Given the description of an element on the screen output the (x, y) to click on. 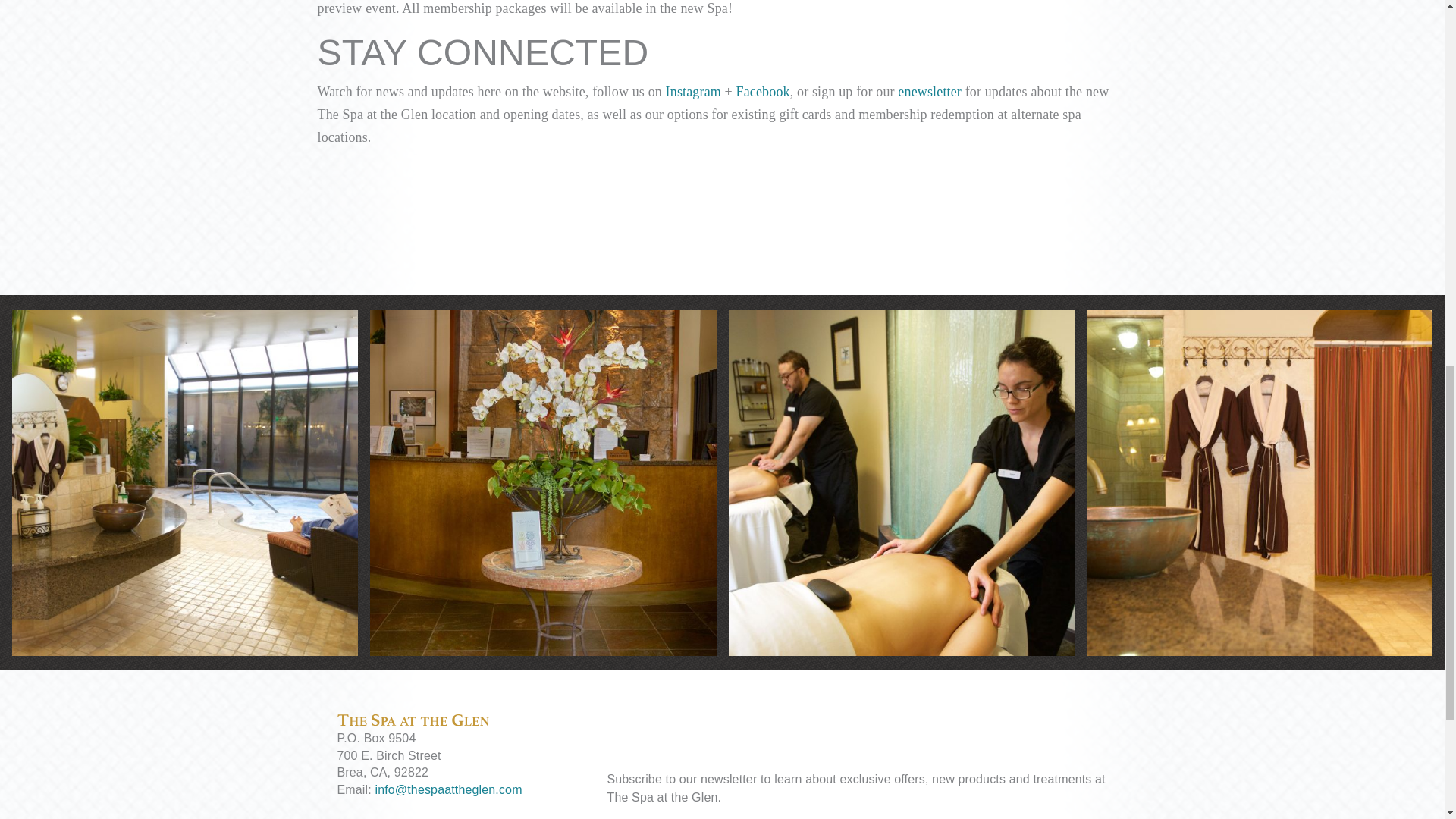
Send Us An Email (447, 788)
Facebook (763, 91)
Instagram (692, 91)
enewsletter (930, 91)
